Given the description of an element on the screen output the (x, y) to click on. 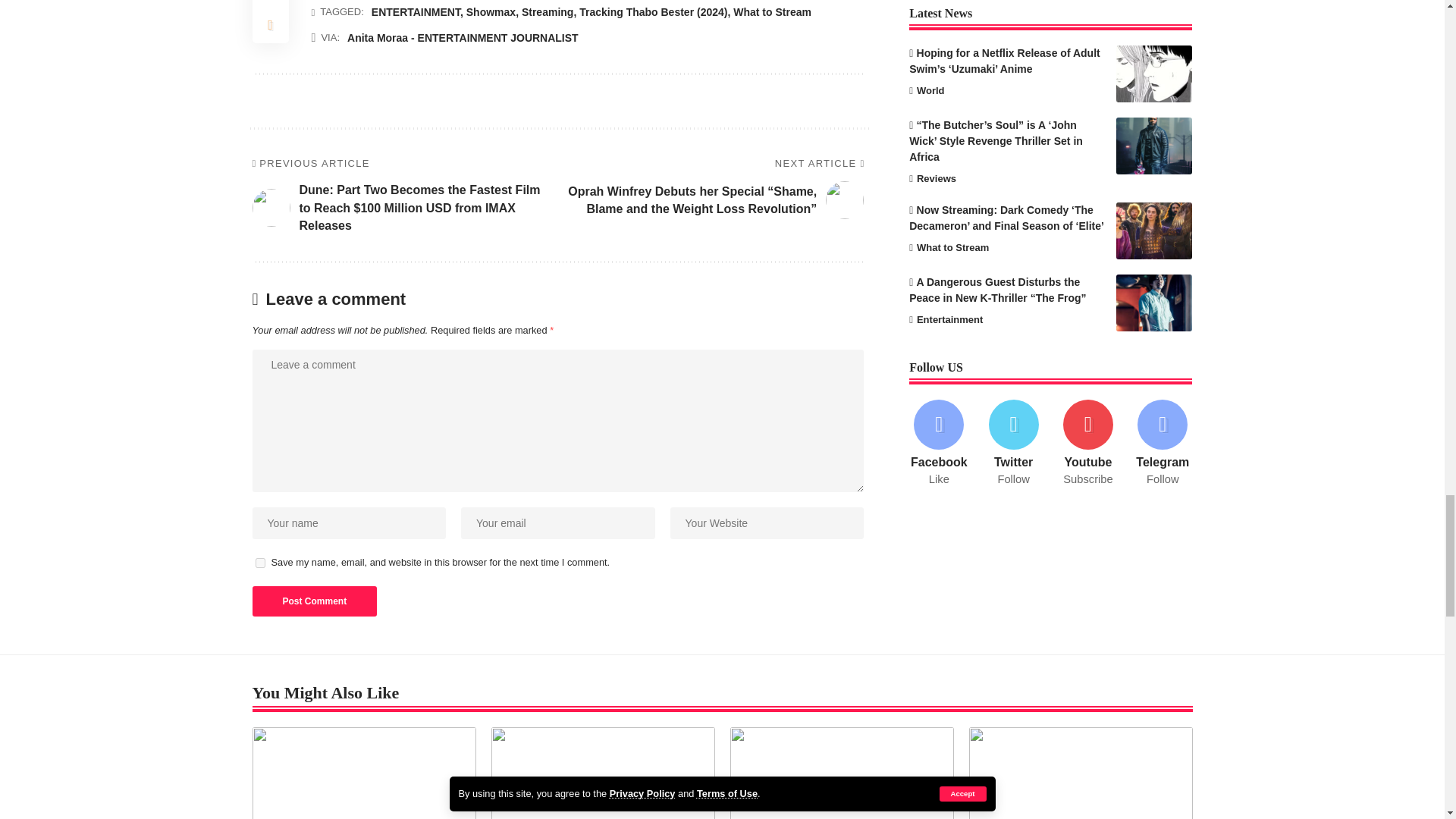
Post Comment (314, 601)
yes (259, 562)
